Given the description of an element on the screen output the (x, y) to click on. 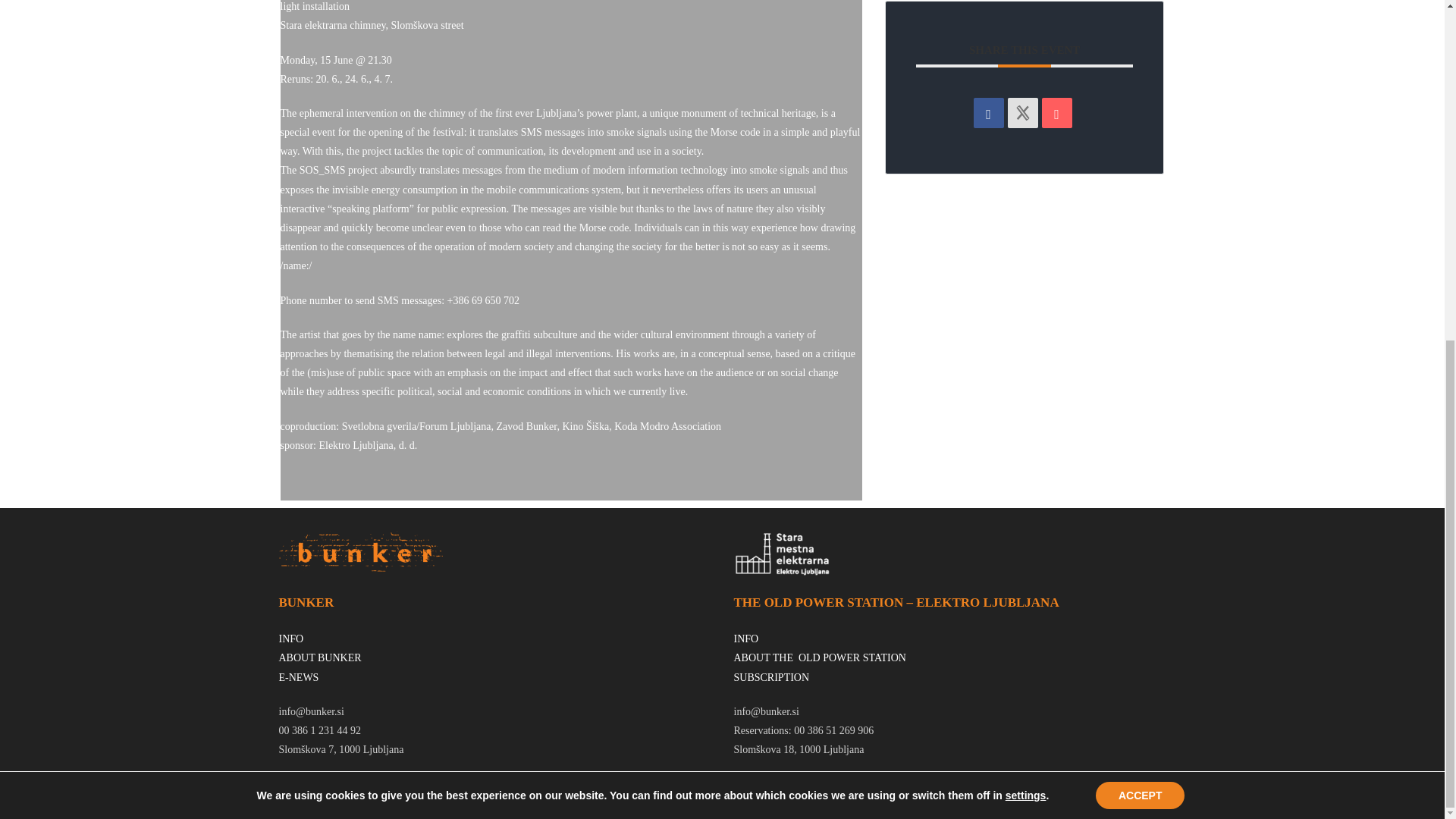
X Social Network (1022, 112)
E-NEWS (298, 677)
Share on Facebook (989, 112)
INFO (291, 638)
ABOUT BUNKER (320, 657)
Email (1056, 112)
